Given the description of an element on the screen output the (x, y) to click on. 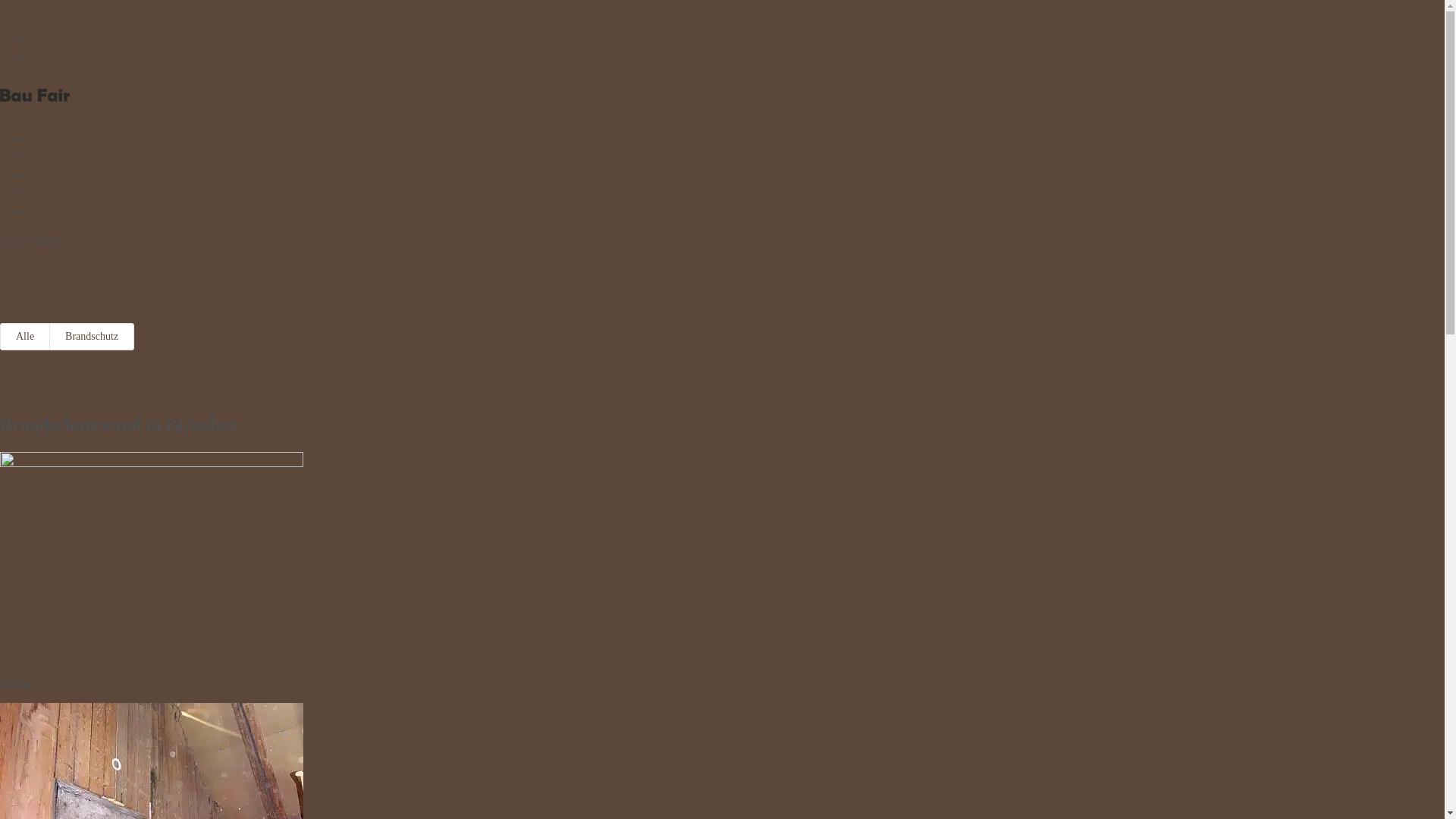
Brandschutz Element type: text (91, 336)
Alle Element type: text (24, 336)
Photovoltaik-Referenzen & Galerie Element type: text (116, 56)
Photovoltaik Element type: text (61, 173)
Home Element type: text (44, 137)
Vorher Element type: hover (151, 462)
Bau-Referenzen & Galerie Element type: text (95, 38)
Neubau / Umbauten Element type: text (79, 155)
Kontakt Element type: text (49, 209)
071 970 06 35 Element type: text (34, 8)
